Given the description of an element on the screen output the (x, y) to click on. 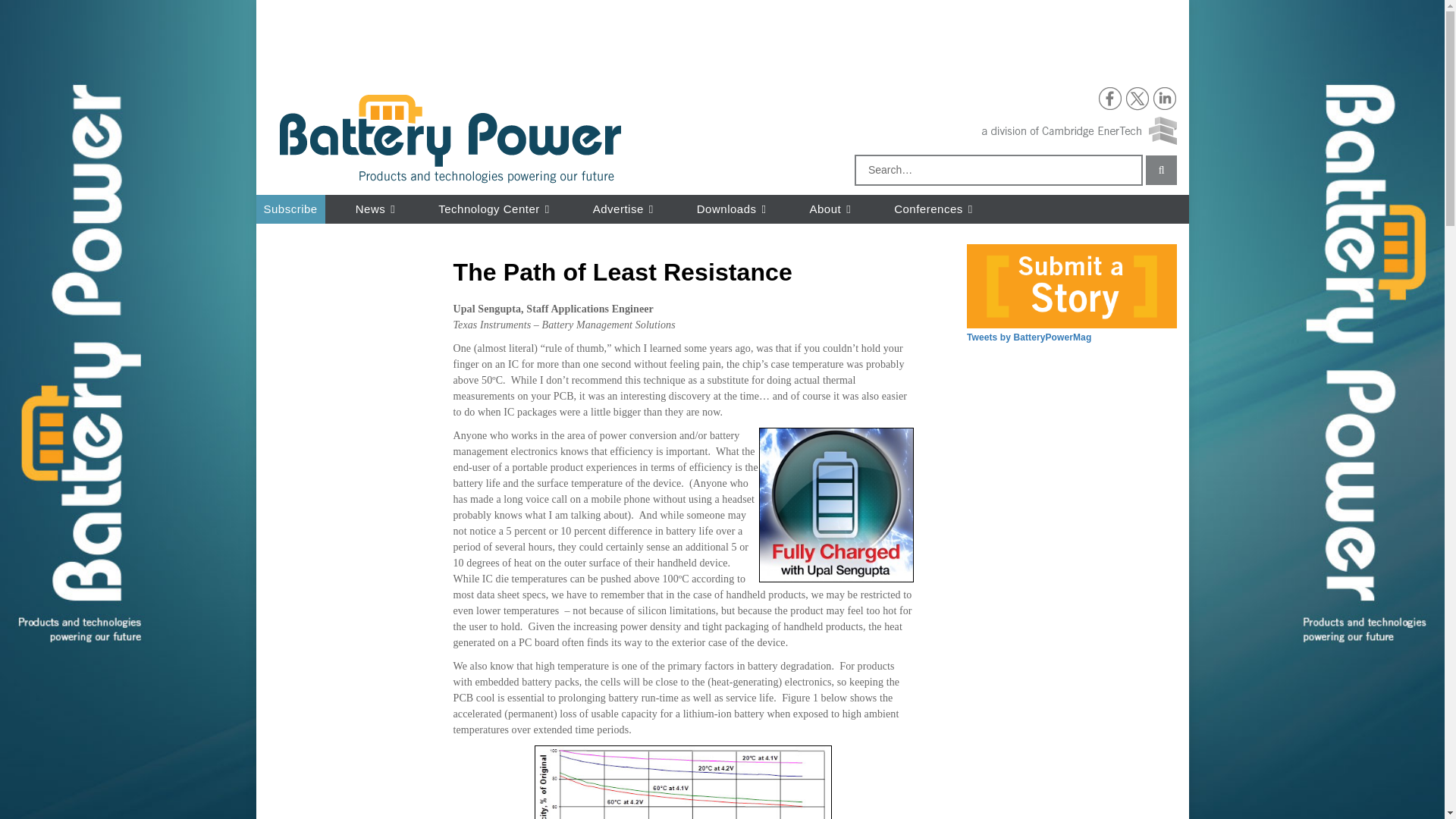
Search (1161, 169)
Subscribe (290, 208)
News (378, 208)
ti1 (682, 782)
Advertise (625, 208)
Technology Center (496, 208)
Search (1161, 169)
3rd party ad content (542, 41)
